Given the description of an element on the screen output the (x, y) to click on. 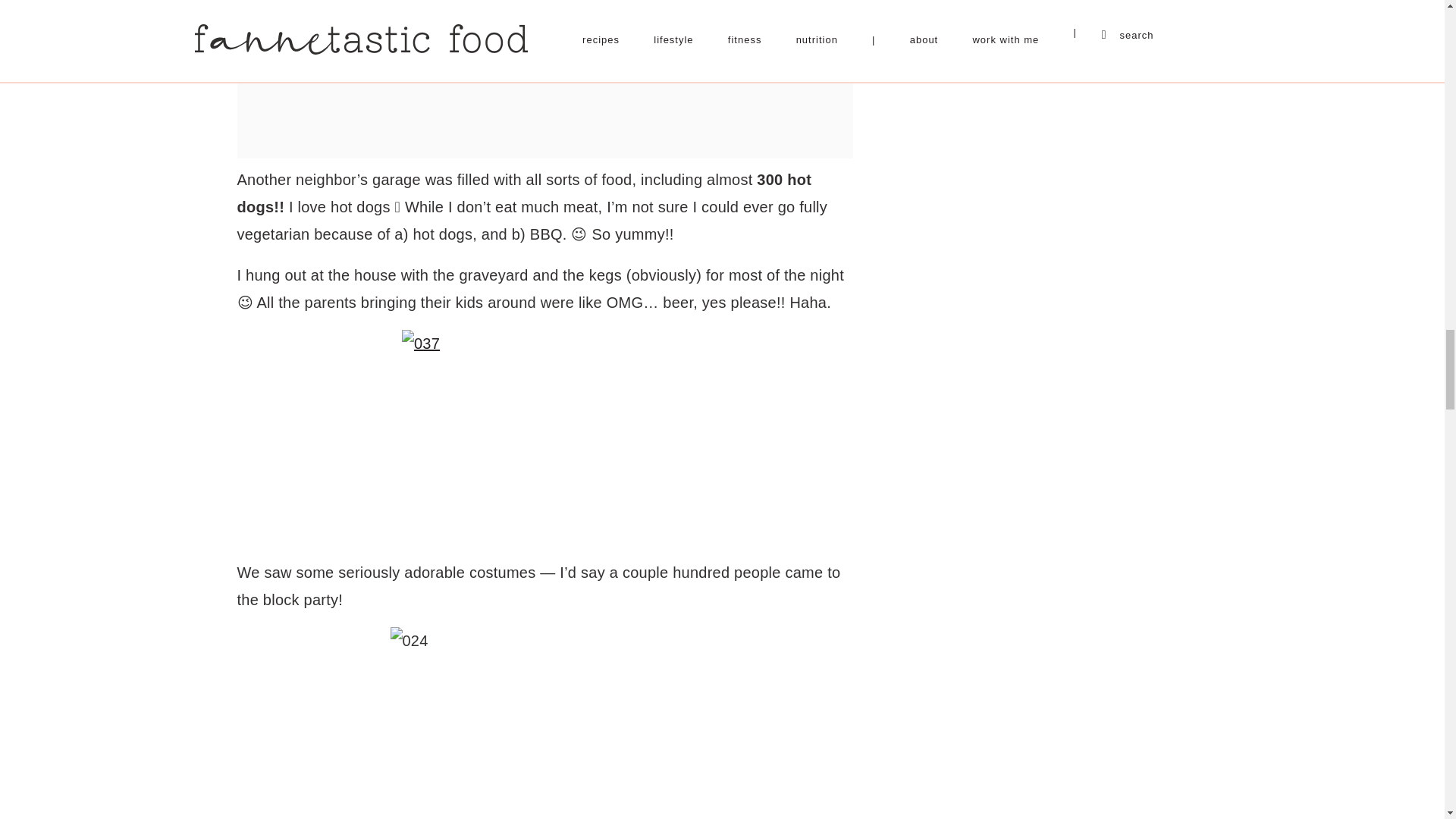
037 (544, 437)
024 (544, 723)
